Given the description of an element on the screen output the (x, y) to click on. 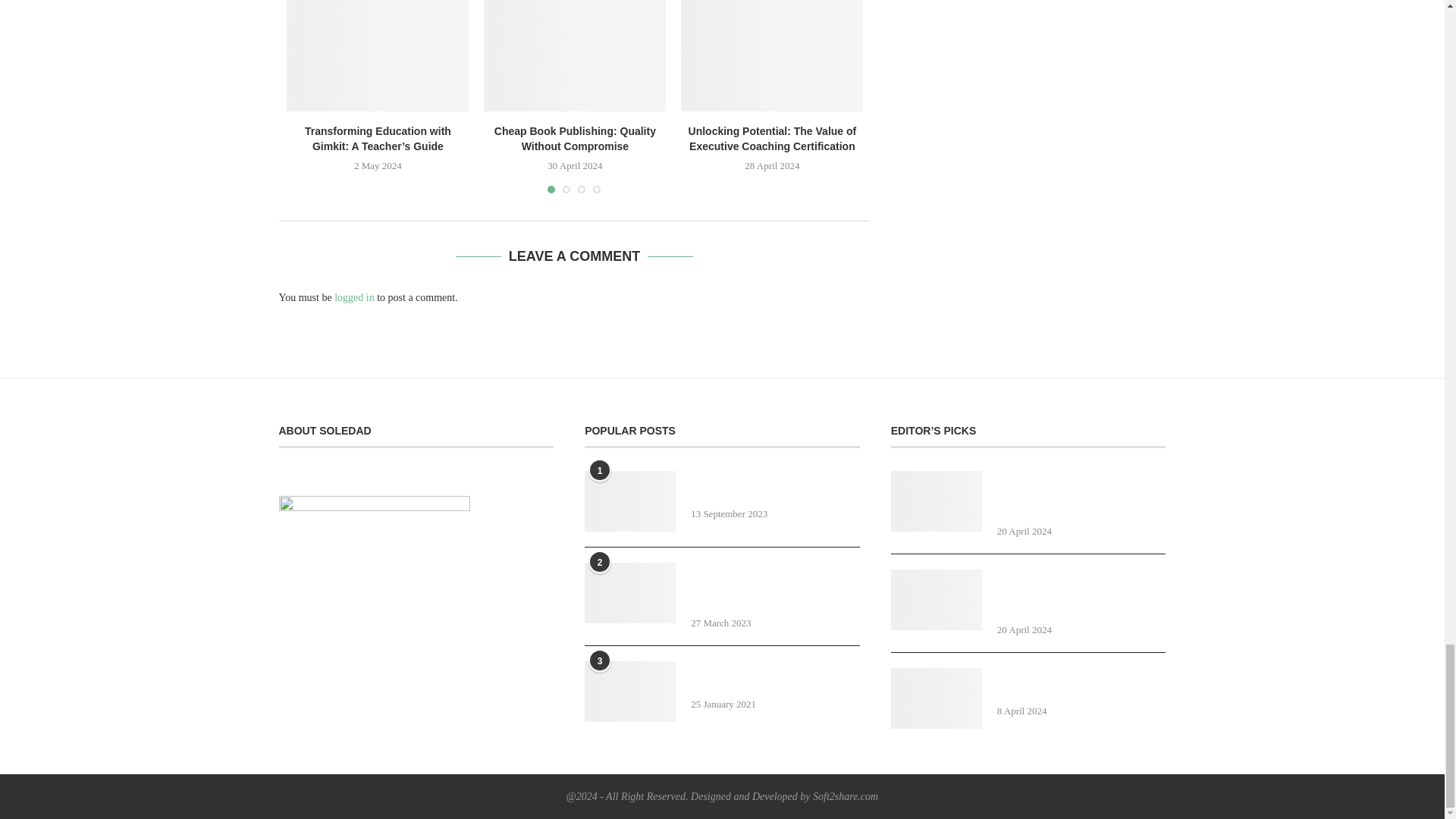
Cheap Book Publishing: Quality Without Compromise (574, 55)
